Given the description of an element on the screen output the (x, y) to click on. 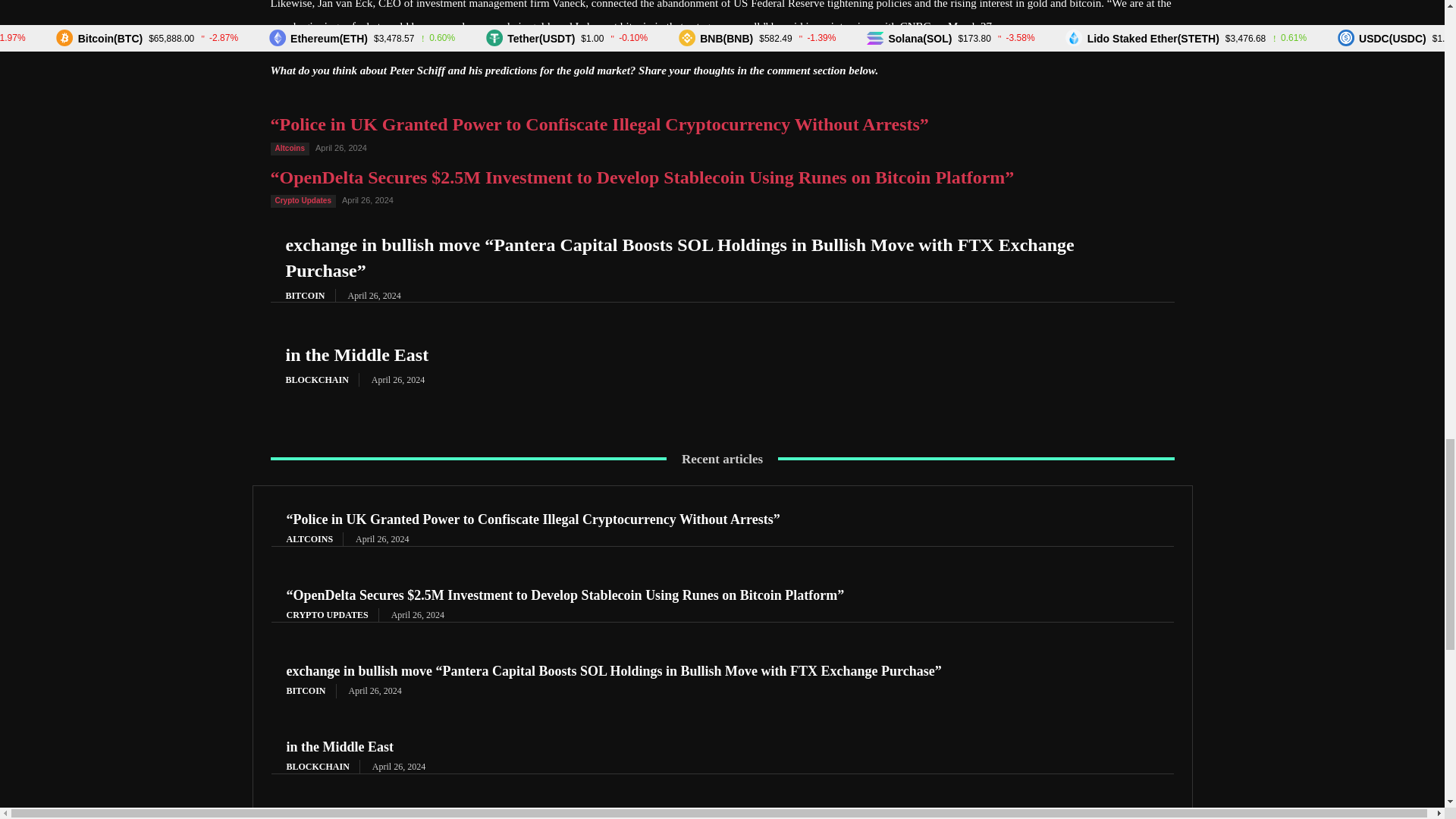
in the Middle East (356, 354)
Altcoins (288, 148)
